Given the description of an element on the screen output the (x, y) to click on. 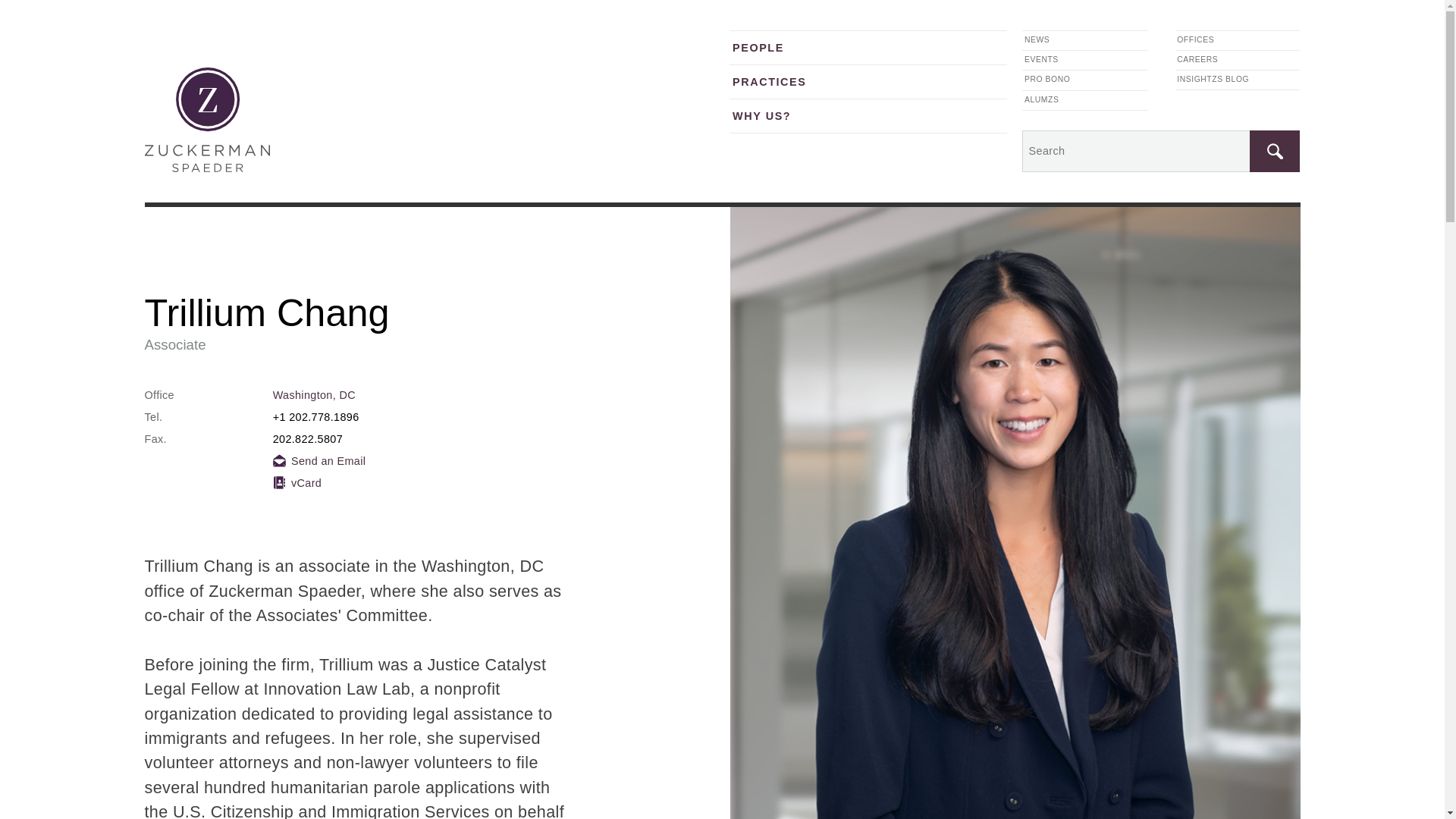
PRO BONO (1084, 79)
PEOPLE (236, 22)
PRACTICES (868, 81)
vCard (297, 482)
CAREERS (387, 45)
PEOPLE (868, 47)
NEWS (1084, 39)
Washington, DC (314, 395)
CAREERS (1237, 59)
Send an Email (319, 460)
Link to Zuckerman Home page (163, 34)
Search (1274, 150)
PRO BONO (451, 45)
INSIGHTZS BLOG (1237, 79)
OFFICES (1237, 39)
